Given the description of an element on the screen output the (x, y) to click on. 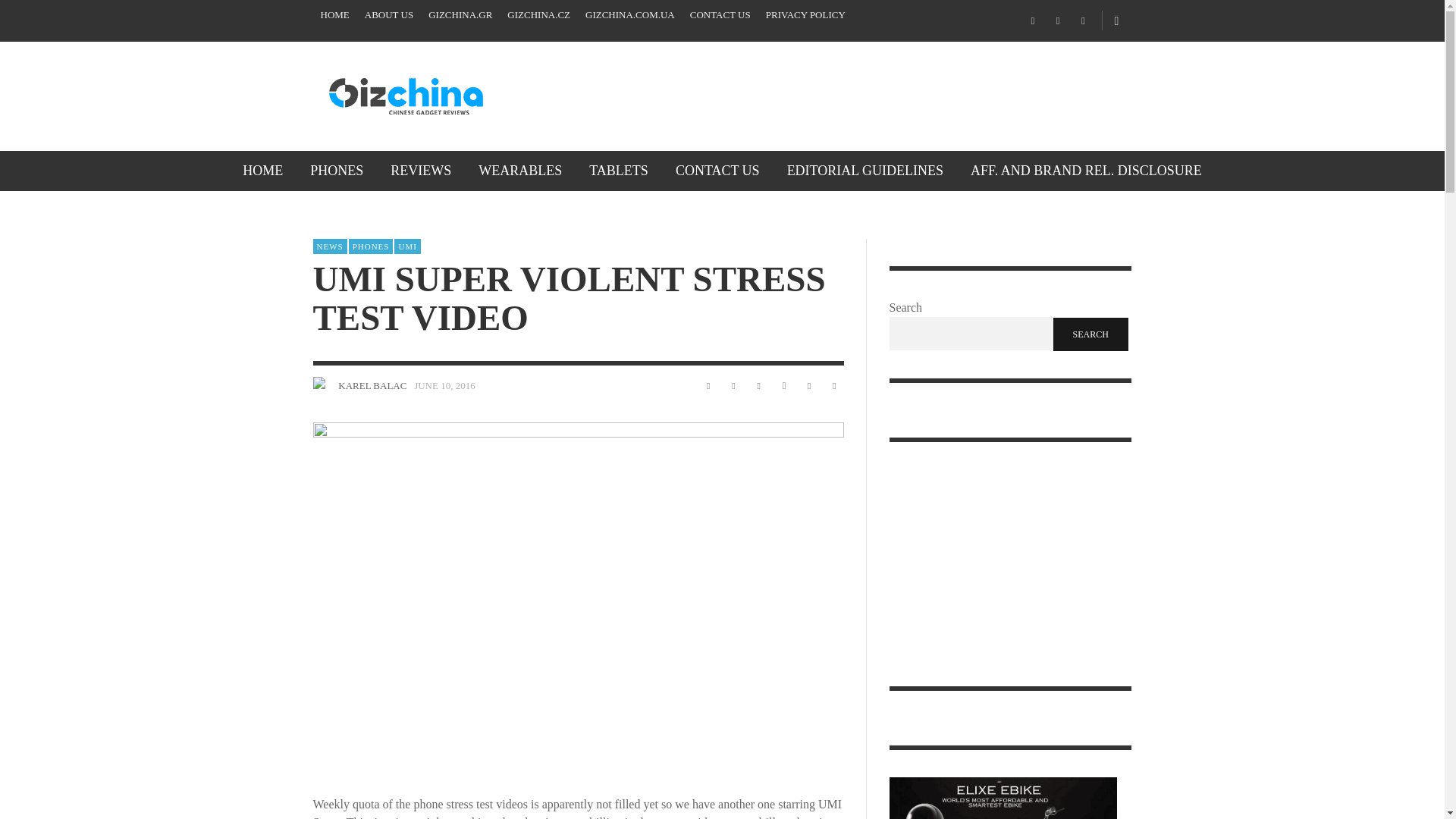
REVIEWS (420, 170)
GIZCHINA.GR (459, 15)
ABOUT US (388, 15)
GIZCHINA.CZ (538, 15)
PRIVACY POLICY (805, 15)
PHONES (337, 170)
CONTACT US (720, 15)
HOME (334, 15)
HOME (262, 170)
GIZCHINA.COM.UA (630, 15)
